Given the description of an element on the screen output the (x, y) to click on. 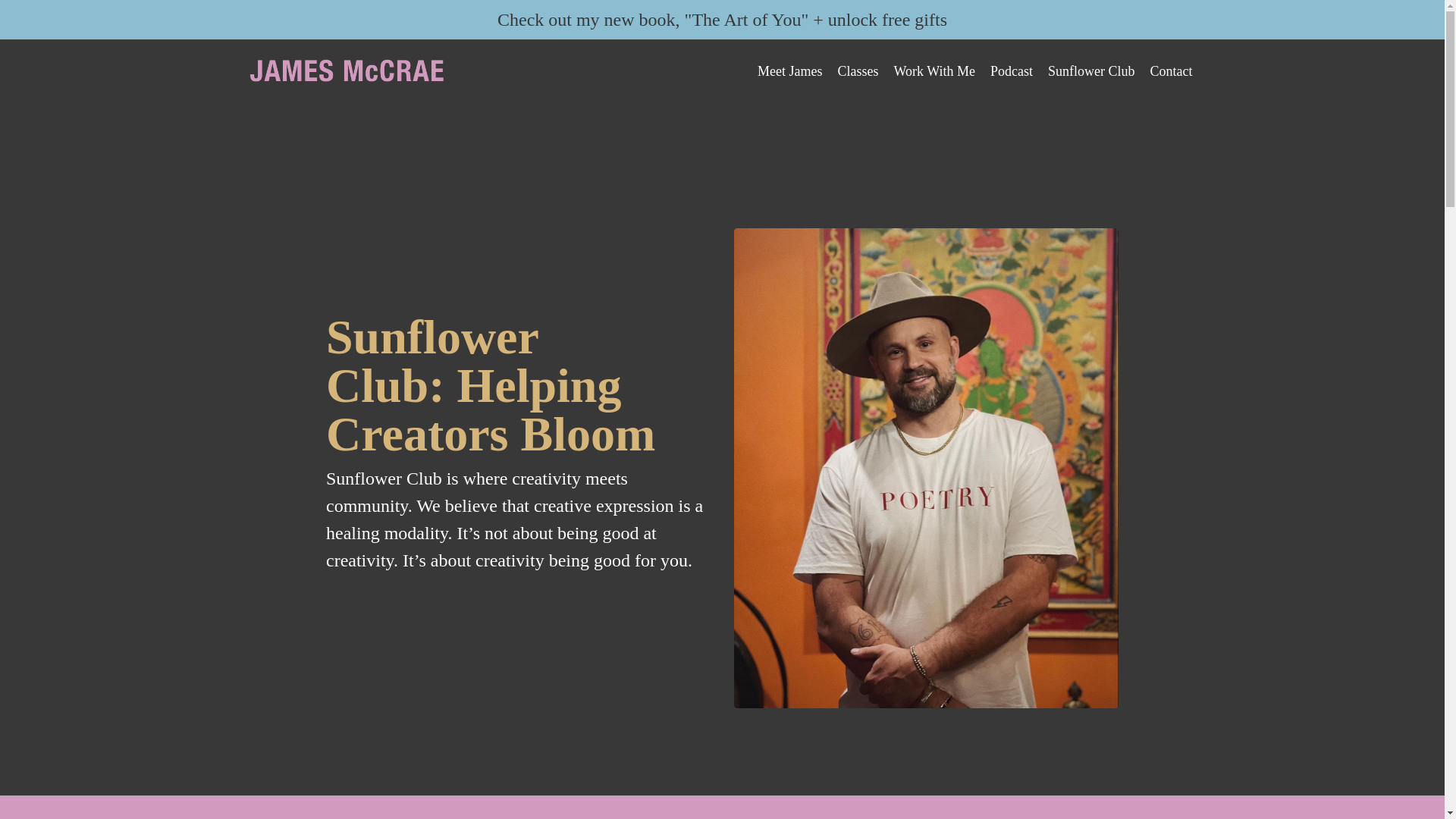
Classes (858, 71)
Podcast (1011, 71)
Contact (1171, 71)
Work With Me (934, 71)
Sunflower Club (1091, 71)
Meet James (789, 71)
